Given the description of an element on the screen output the (x, y) to click on. 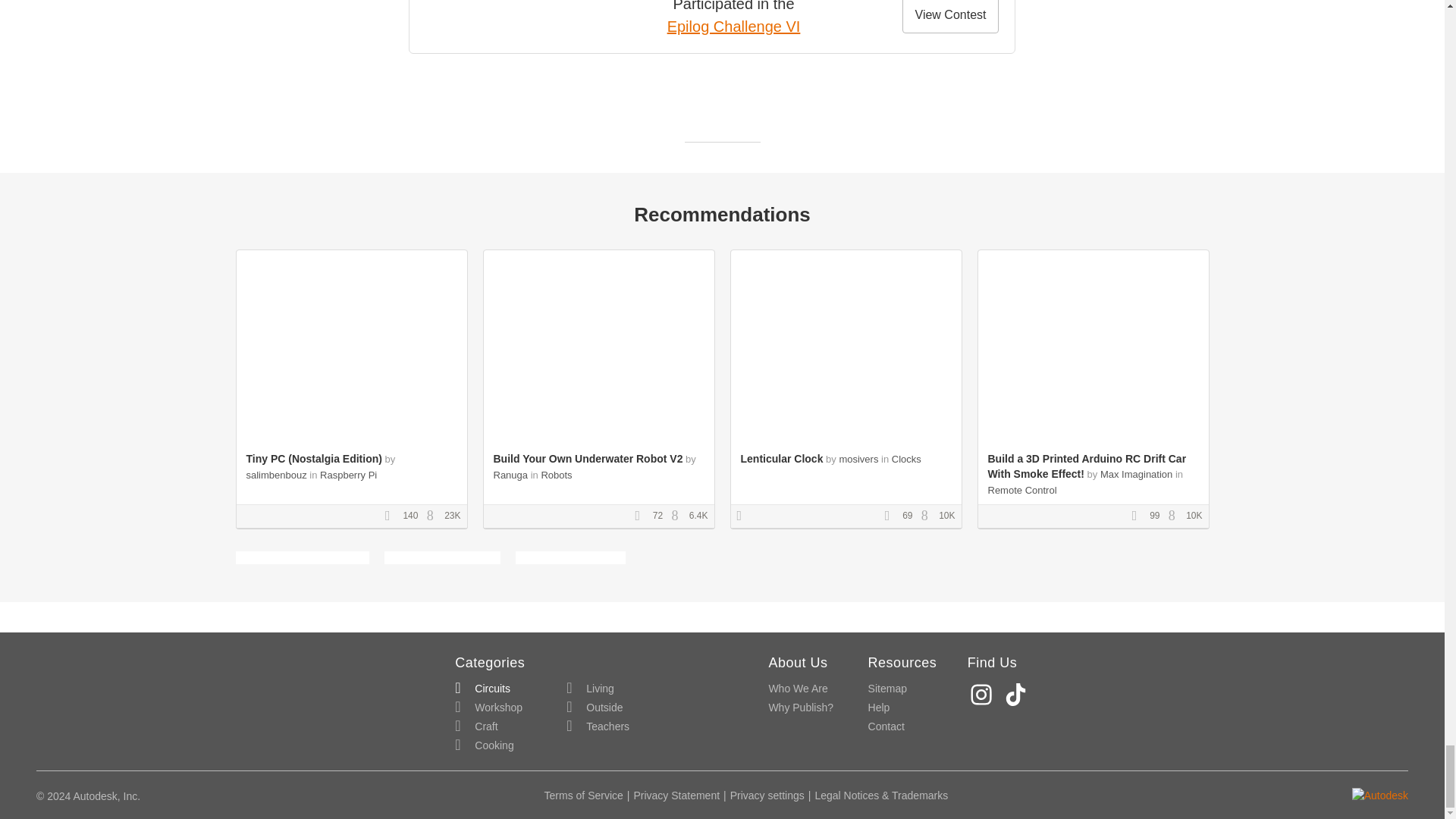
Instagram (983, 694)
Favorites Count (892, 516)
Favorites Count (1139, 516)
Views Count (434, 516)
Favorites Count (392, 516)
Favorites Count (641, 516)
Views Count (928, 516)
TikTok (1018, 694)
Contest Winner (744, 516)
Views Count (678, 516)
